Given the description of an element on the screen output the (x, y) to click on. 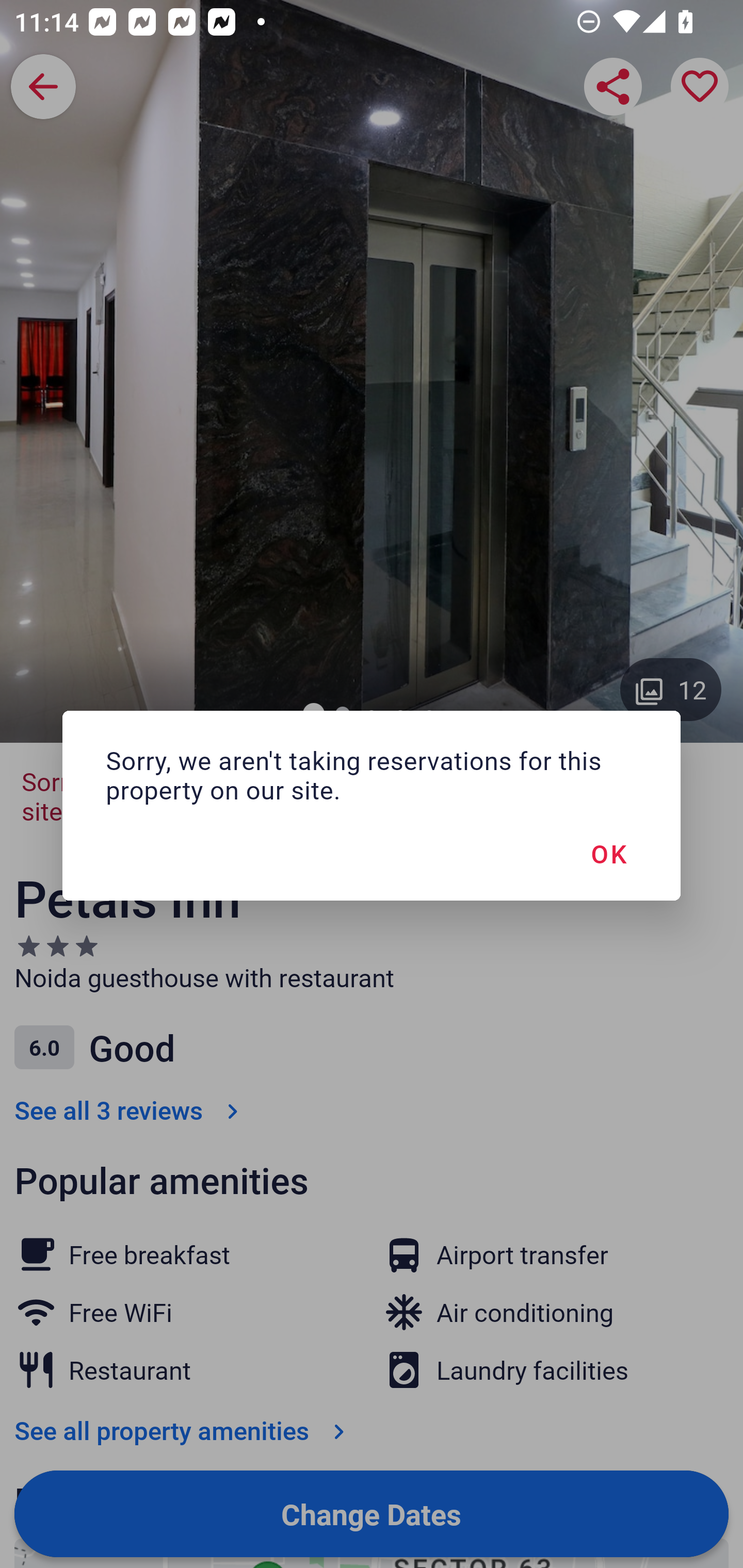
OK (608, 853)
